Given the description of an element on the screen output the (x, y) to click on. 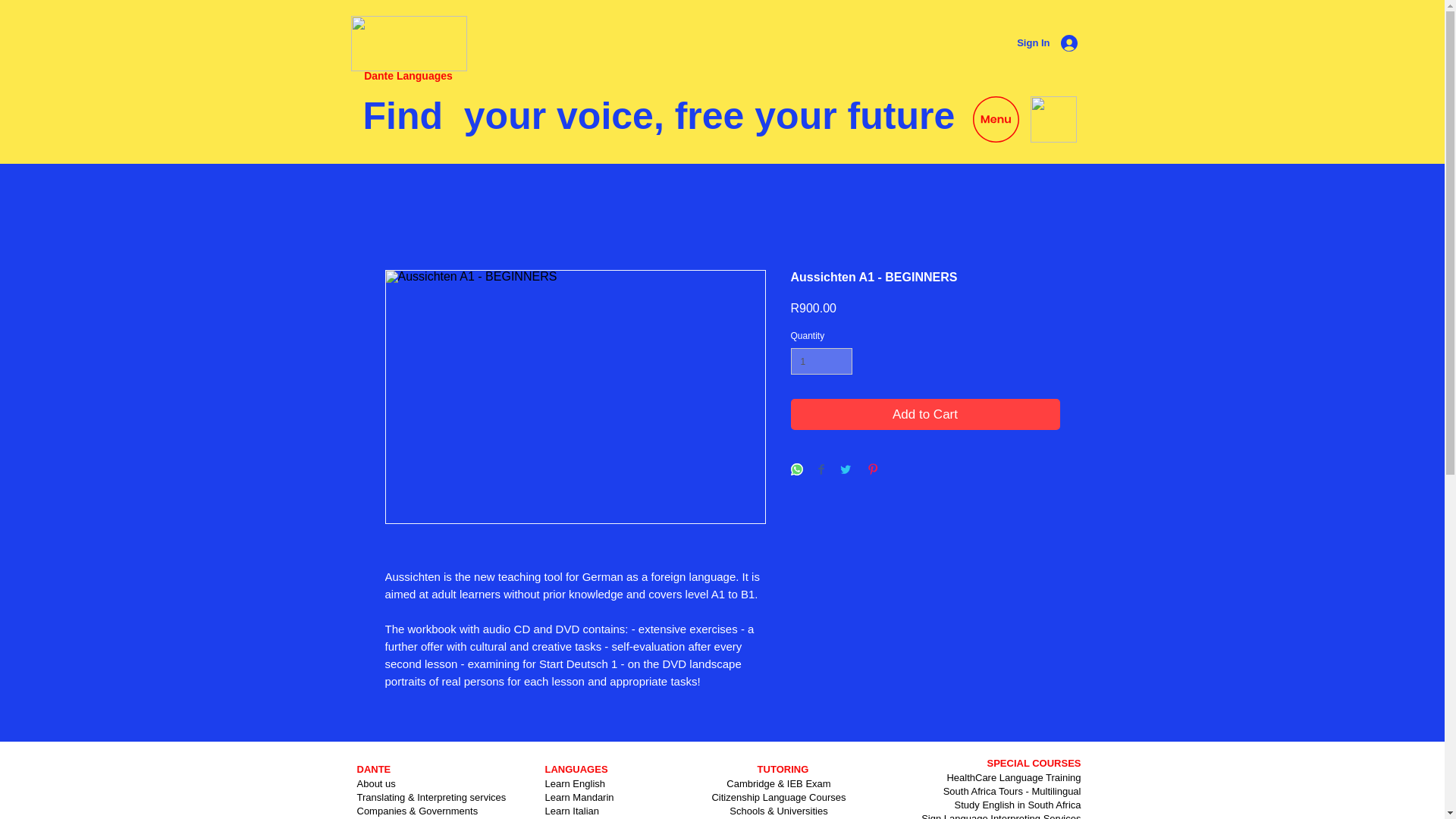
Learn Italian (571, 810)
Learn English (574, 783)
About us (375, 783)
Sign In (1048, 43)
Learn Mandarin (578, 797)
whatsapp-icon-512x510-ndlo3tcb.png (1052, 119)
Add to Cart (924, 414)
1 (820, 361)
Dante Languages (408, 76)
